Given the description of an element on the screen output the (x, y) to click on. 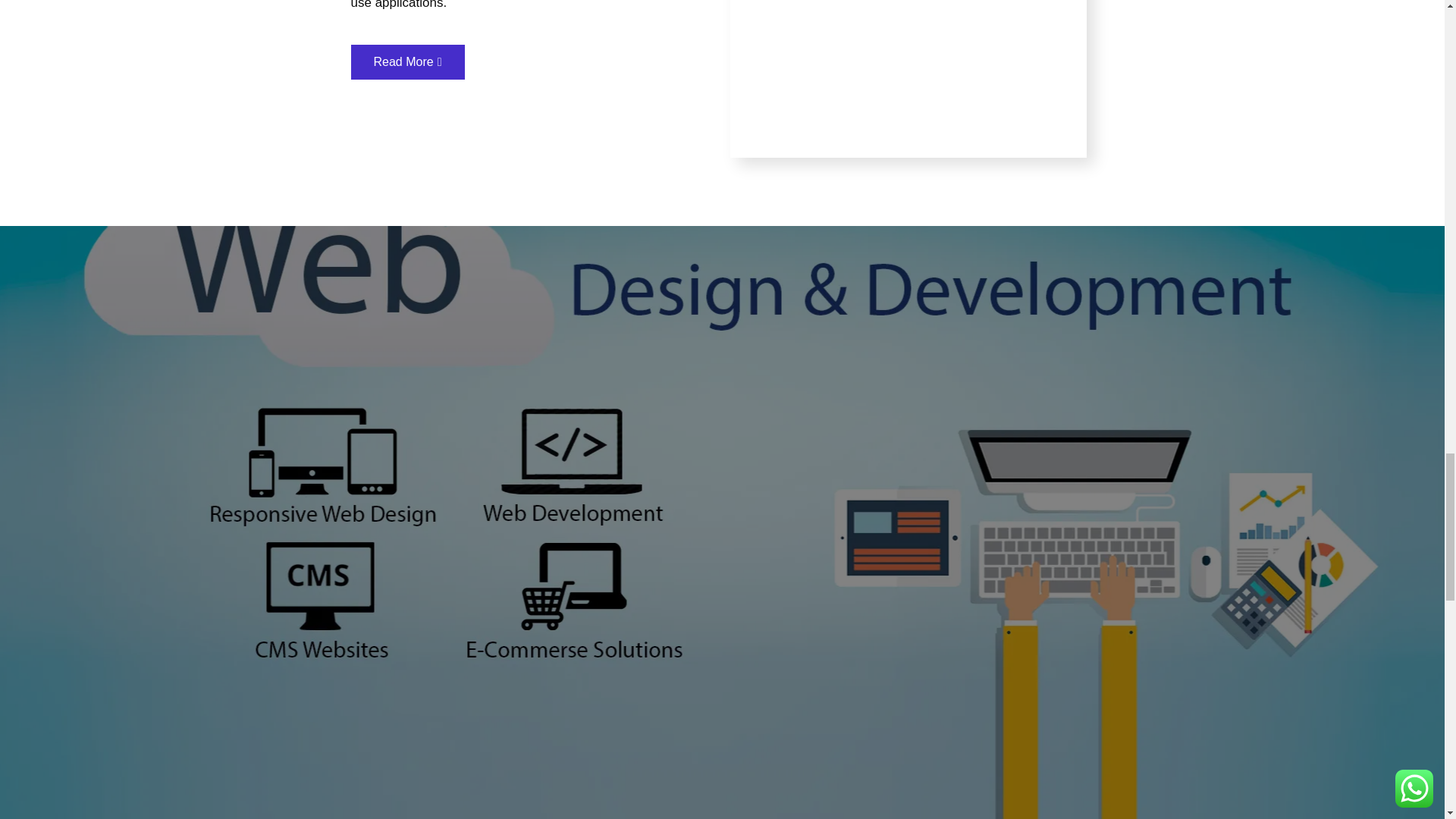
Read More (407, 62)
